Given the description of an element on the screen output the (x, y) to click on. 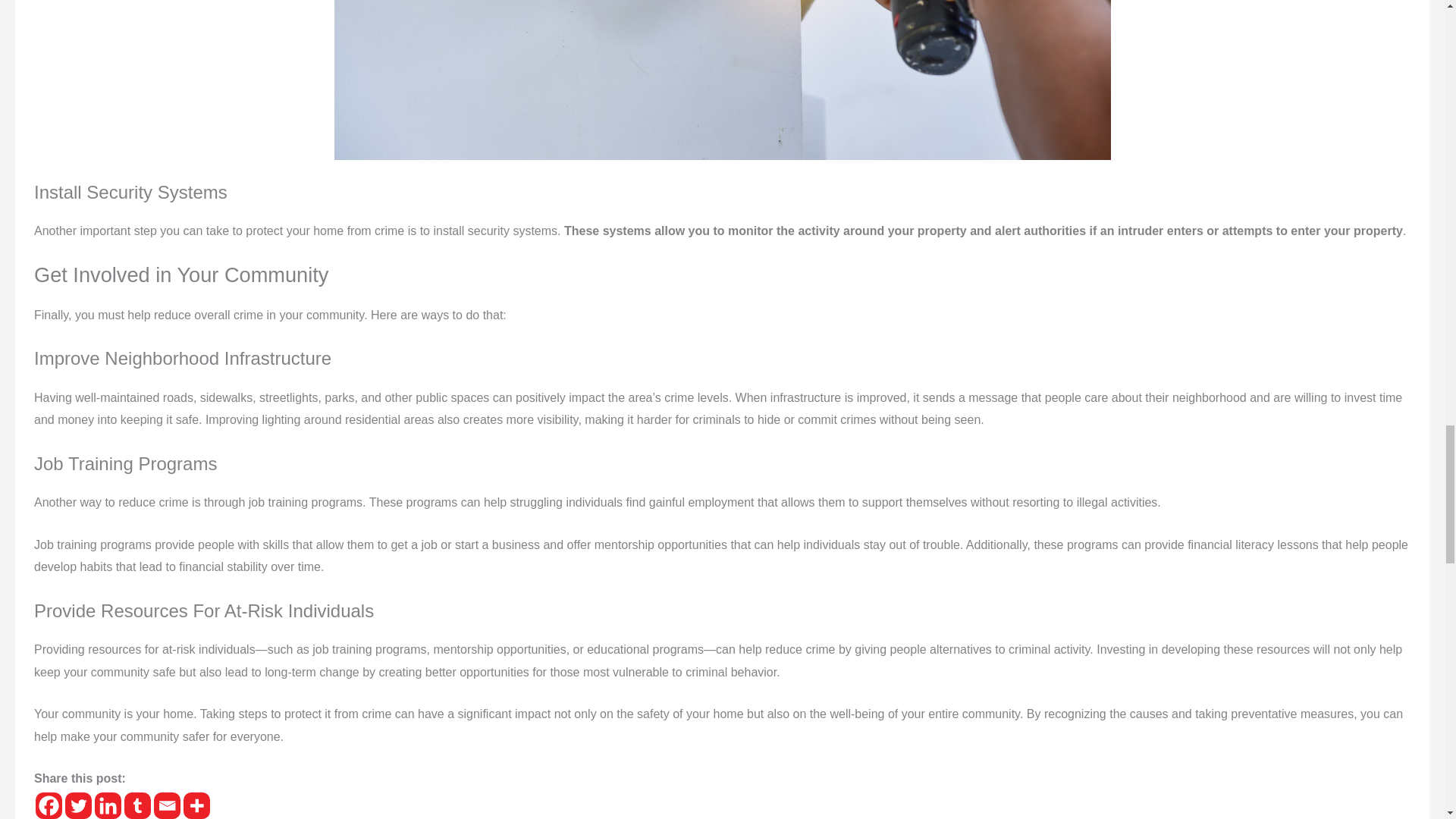
Linkedin (107, 805)
Email (167, 805)
Twitter (78, 805)
Tumblr (137, 805)
Facebook (48, 805)
More (196, 805)
CCTV installation (721, 79)
